Given the description of an element on the screen output the (x, y) to click on. 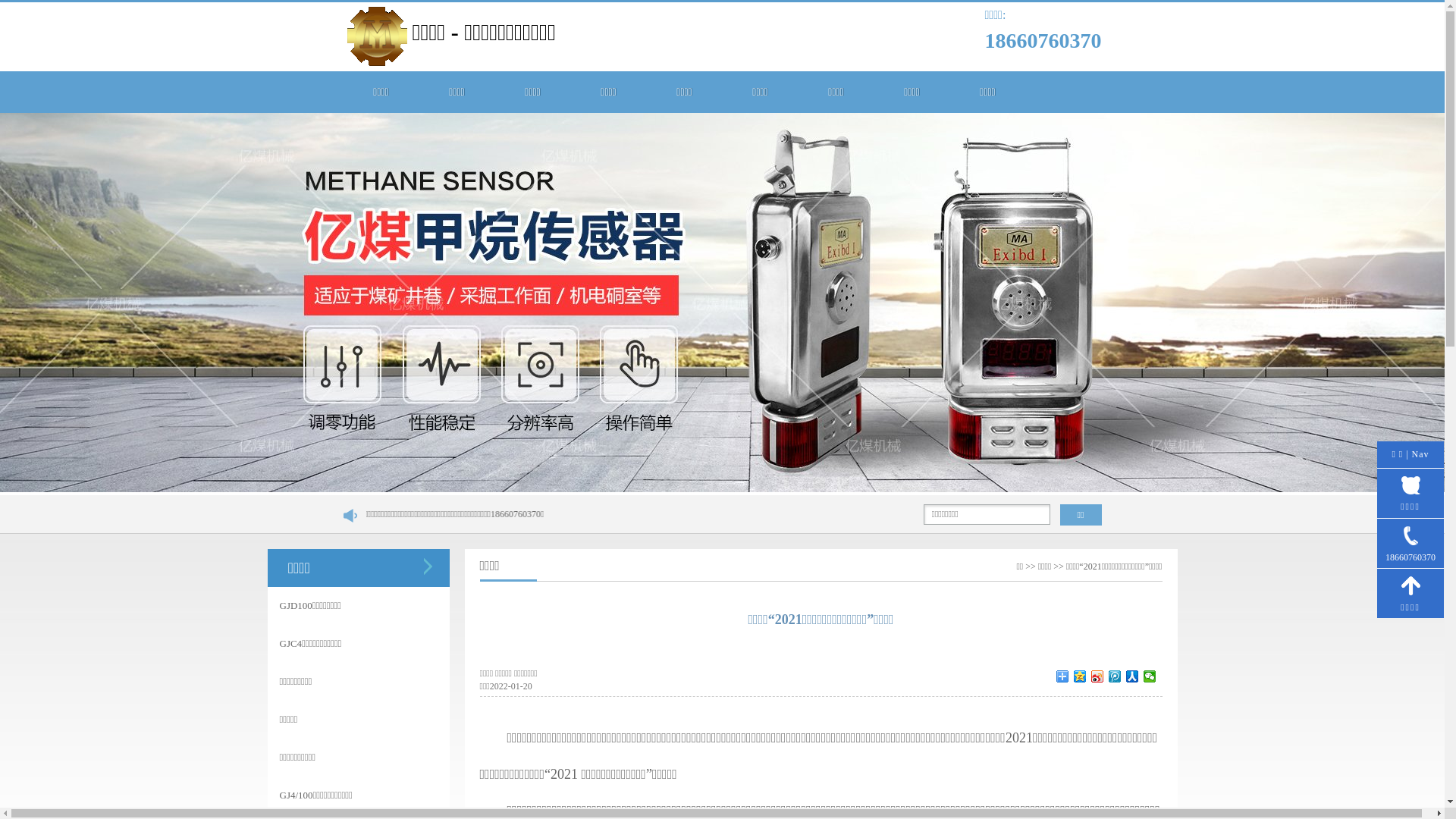
18660760370 Element type: text (1410, 543)
